Given the description of an element on the screen output the (x, y) to click on. 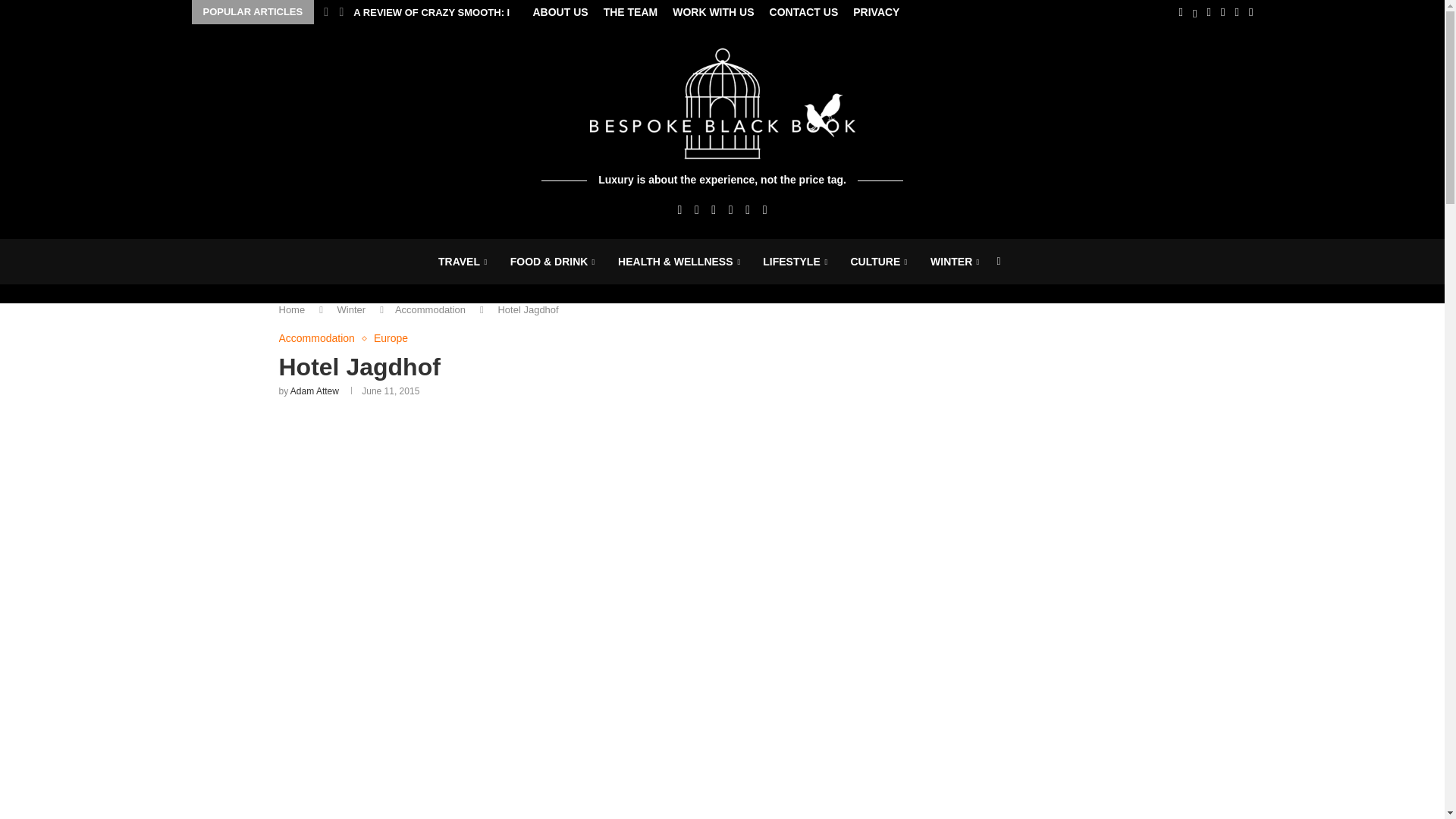
THE TEAM (631, 12)
A REVIEW OF CRAZY SMOOTH: IN MY BODY (458, 12)
TRAVEL (462, 261)
PRIVACY (876, 12)
CONTACT US (804, 12)
Adam Attew (314, 390)
WORK WITH US (713, 12)
ABOUT US (560, 12)
